Given the description of an element on the screen output the (x, y) to click on. 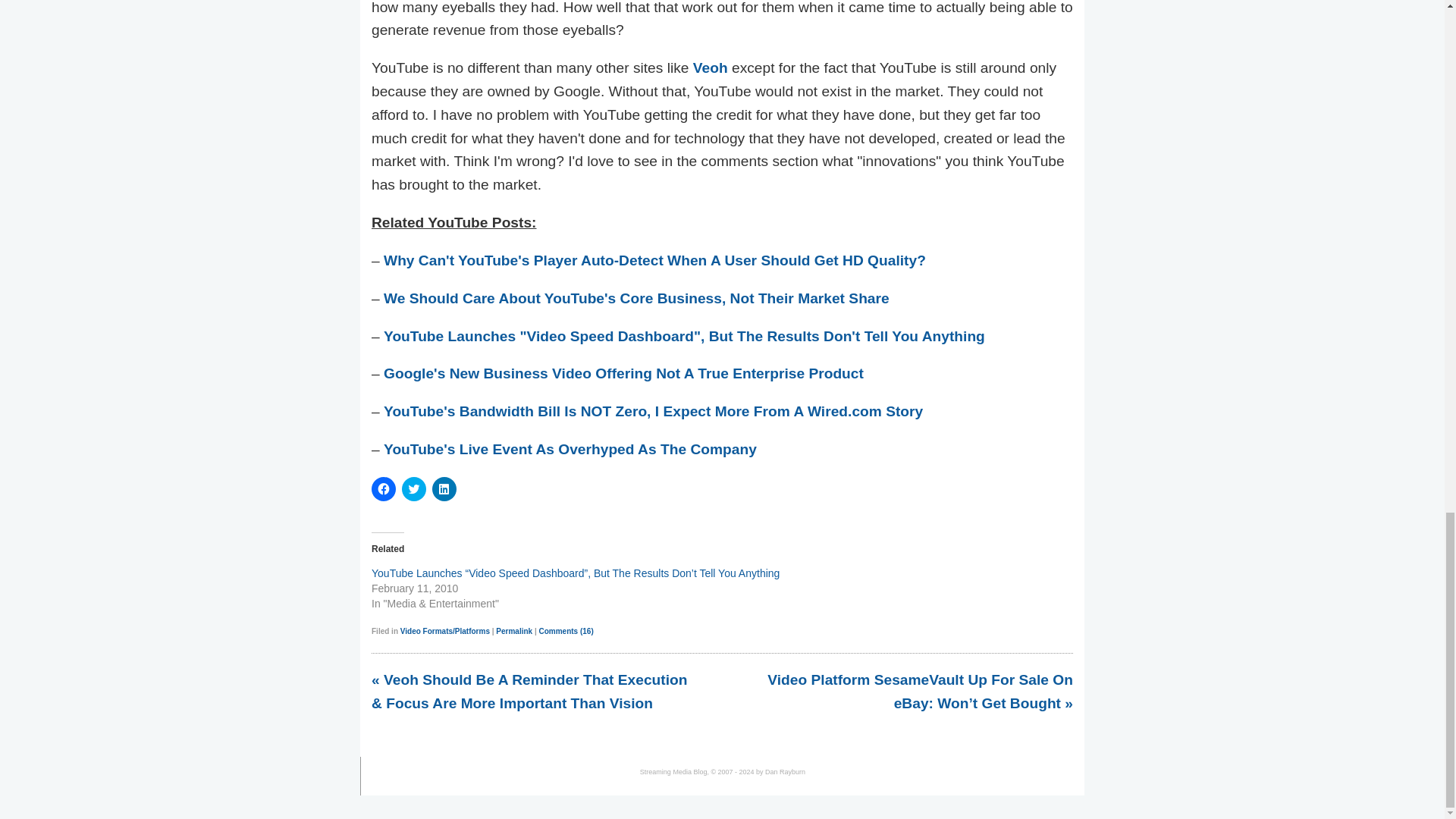
Click to share on LinkedIn (444, 488)
Click to share on Twitter (413, 488)
YouTube's Live Event As Overhyped As The Company (570, 449)
Click to share on Facebook (383, 488)
Permalink (514, 631)
Veoh (710, 67)
